Given the description of an element on the screen output the (x, y) to click on. 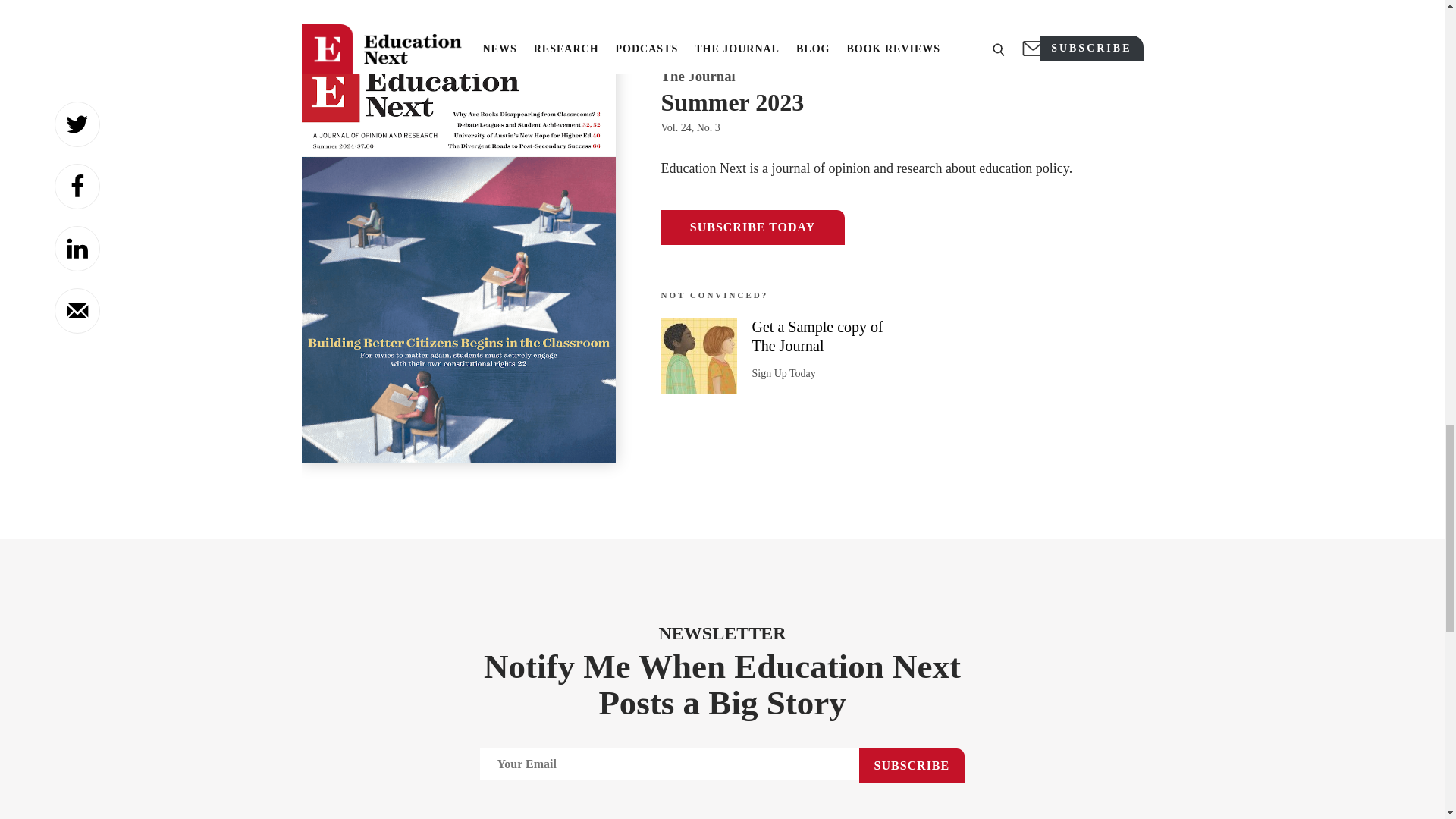
SUBSCRIBE (911, 765)
Summer 2023 (901, 102)
SUBSCRIBE TODAY (752, 226)
Sign Up Today (783, 373)
